Given the description of an element on the screen output the (x, y) to click on. 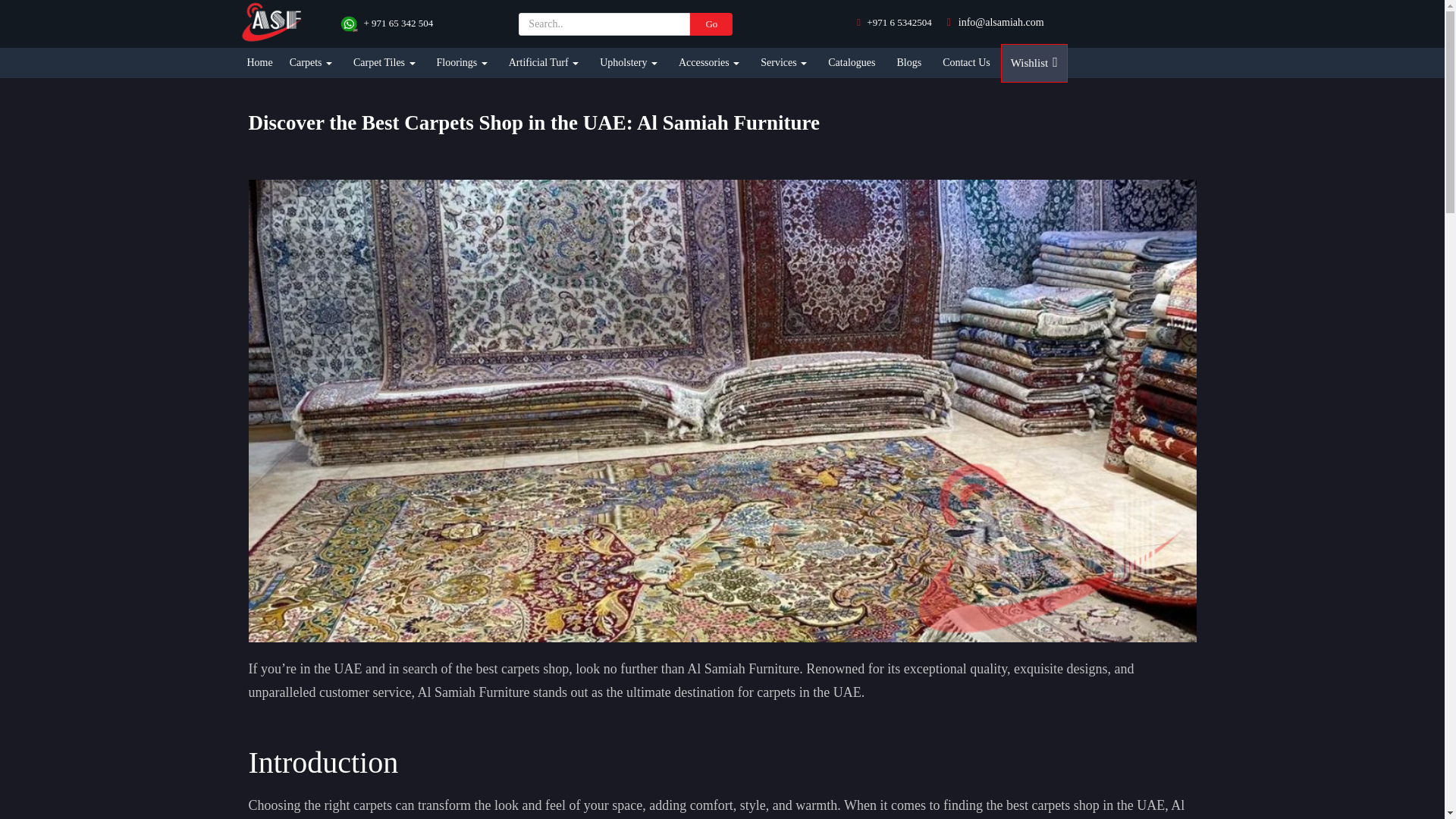
Home (260, 62)
Carpet Tiles (384, 62)
Carpets (310, 62)
Carpets (310, 62)
Go (711, 23)
Floorings (461, 62)
Carpet Tiles (384, 62)
Home (260, 62)
